Given the description of an element on the screen output the (x, y) to click on. 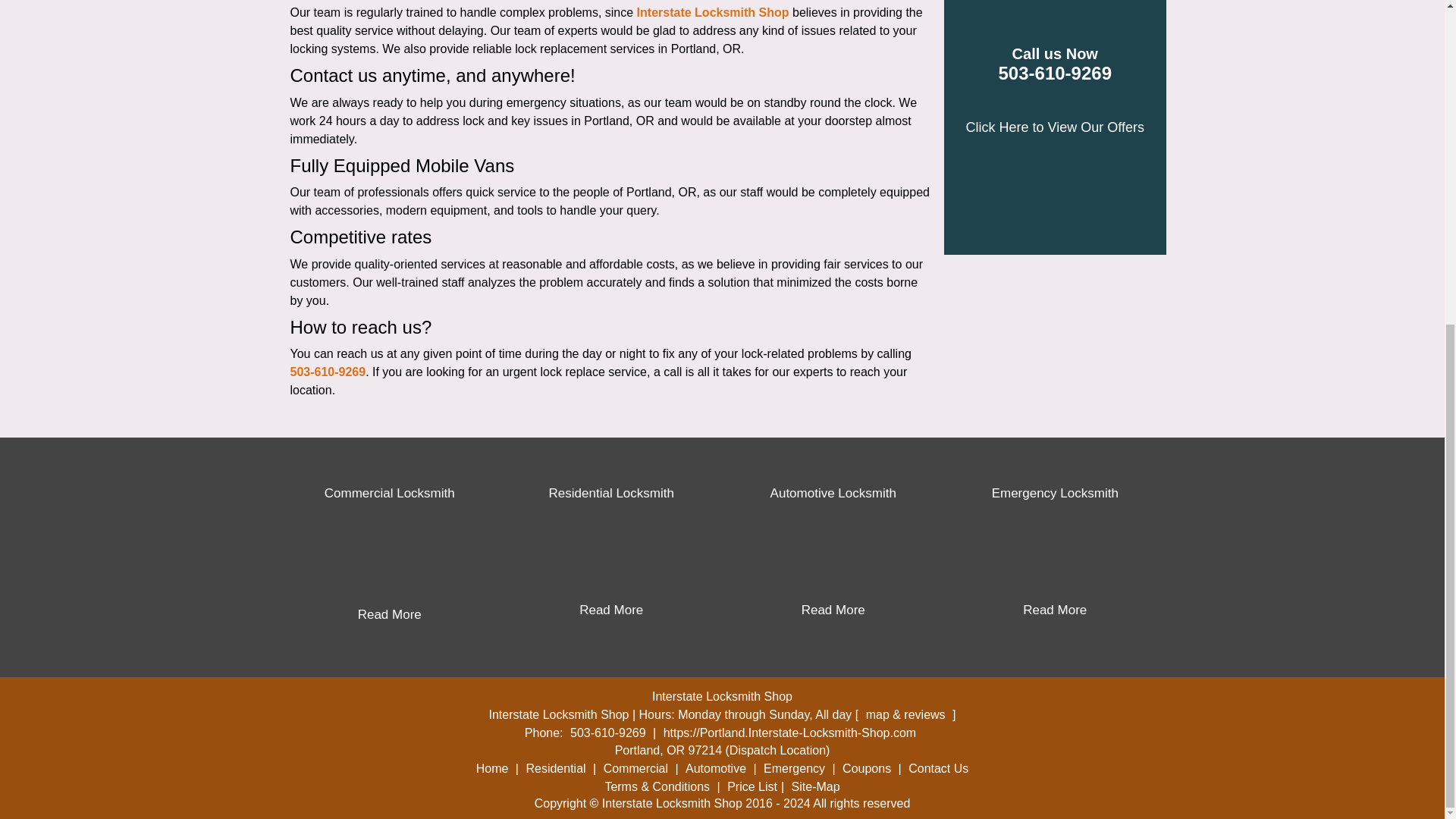
503-610-9269 (327, 371)
Read More (390, 614)
Read More (1054, 609)
Automotive Locksmith (833, 493)
503-610-9269 (607, 732)
Emergency Locksmith (1054, 493)
Home (491, 768)
Coupons (866, 768)
Residential (555, 768)
Commercial Locksmith (389, 493)
Automotive (715, 768)
Click Here to View Our Offers (1055, 126)
Read More (611, 609)
Read More (833, 609)
Interstate Locksmith Shop (713, 11)
